Given the description of an element on the screen output the (x, y) to click on. 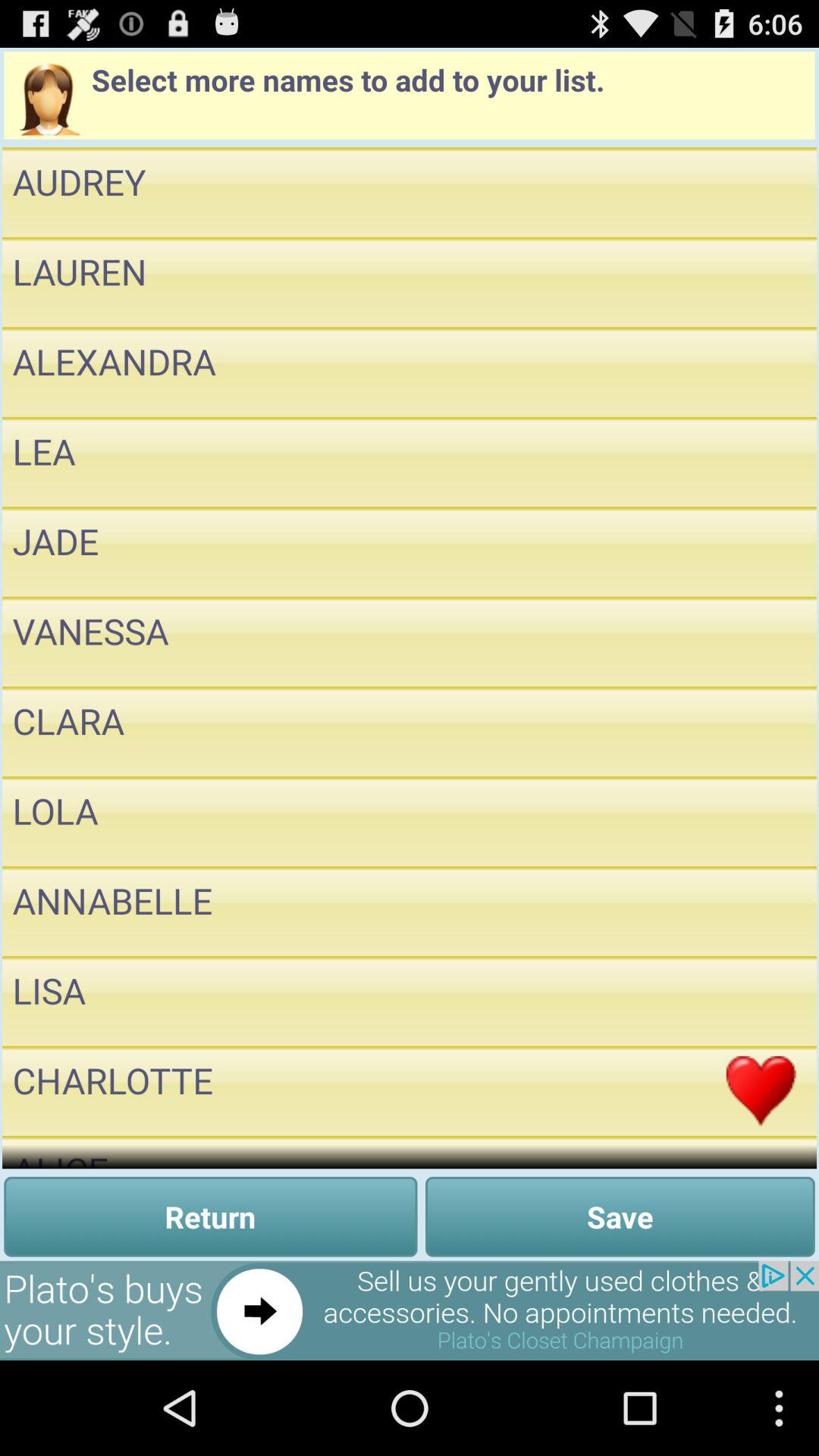
shows plato 's buys your style option (409, 1310)
